Given the description of an element on the screen output the (x, y) to click on. 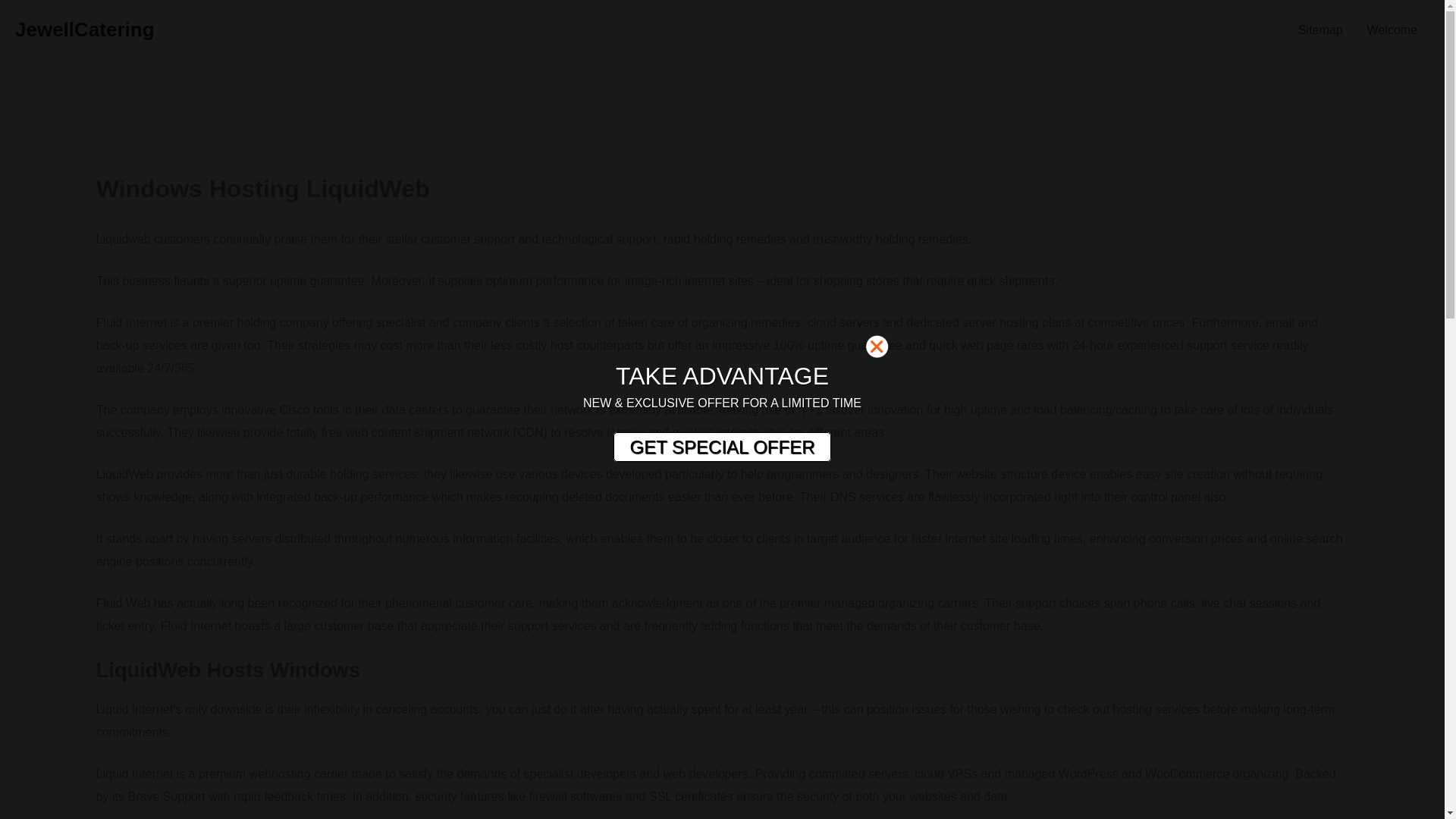
Sitemap (1320, 30)
Welcome (1392, 30)
GET SPECIAL OFFER (720, 446)
JewellCatering (84, 29)
